Given the description of an element on the screen output the (x, y) to click on. 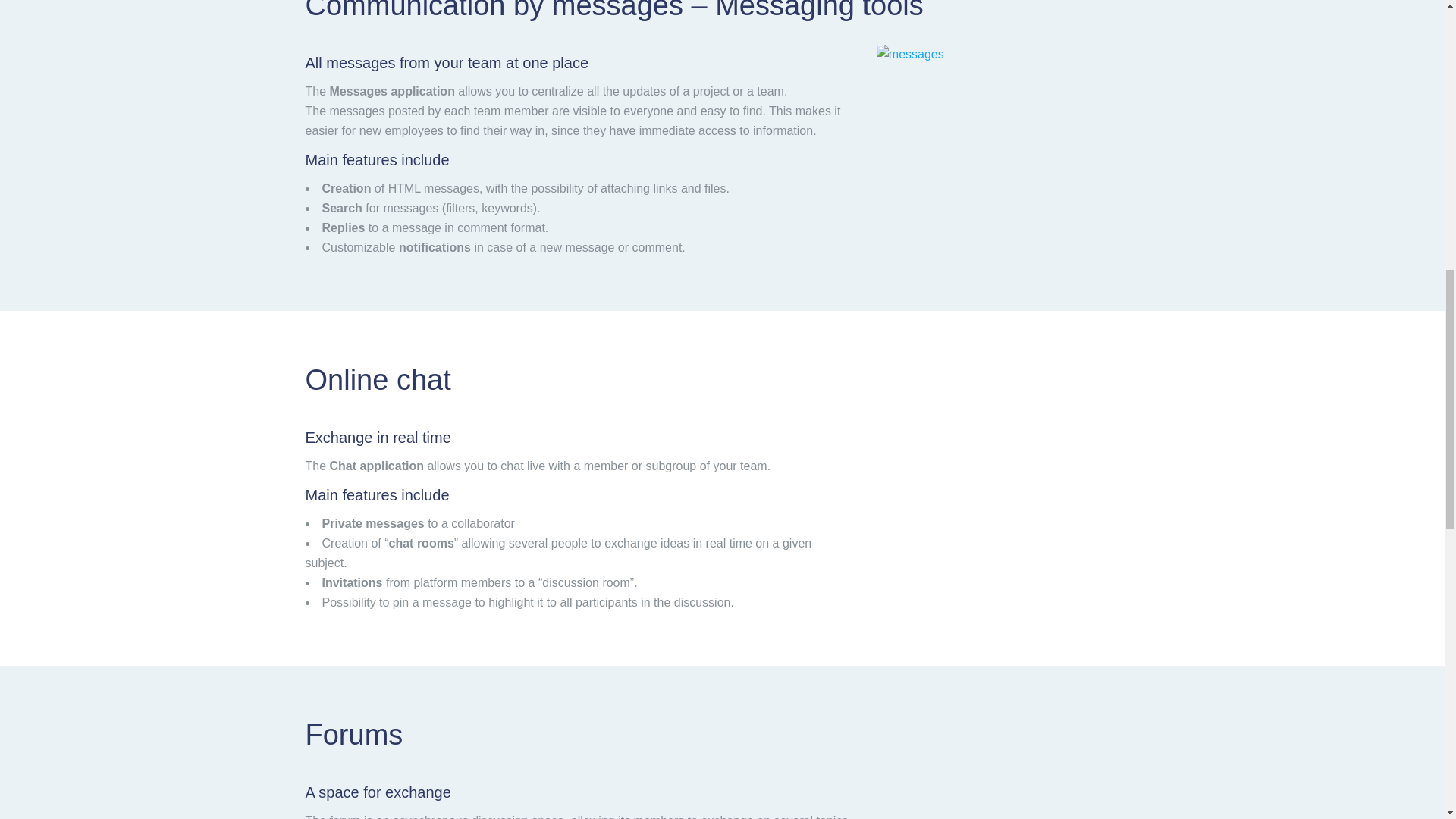
autres-chat-min (1008, 453)
forums (1008, 796)
messages (909, 54)
